Given the description of an element on the screen output the (x, y) to click on. 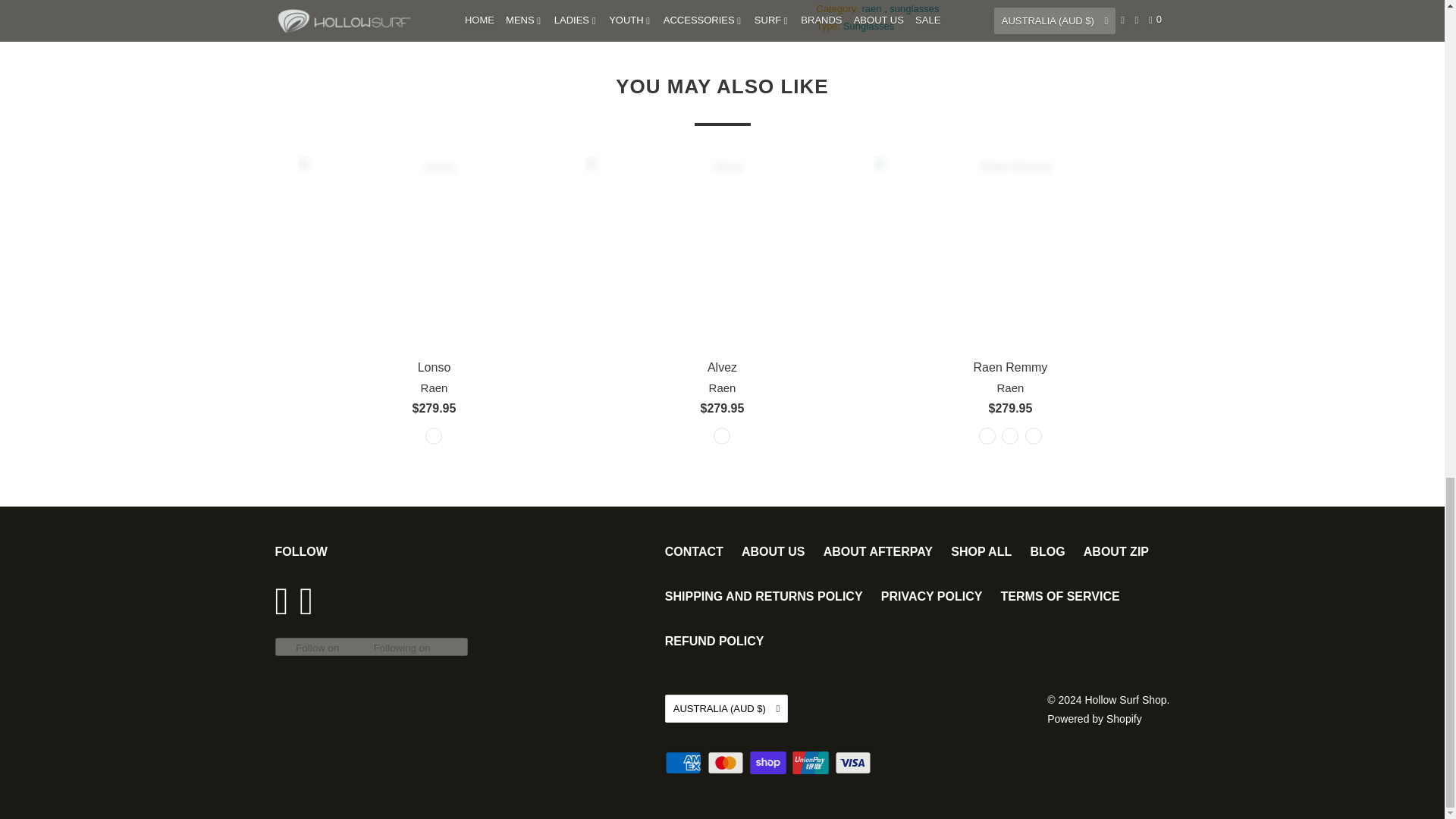
Union Pay (811, 762)
Mastercard (726, 762)
Products tagged raen (872, 8)
Sunglasses (868, 25)
Products tagged sunglasses (914, 8)
Shop Pay (769, 762)
American Express (684, 762)
Visa (854, 762)
